Given the description of an element on the screen output the (x, y) to click on. 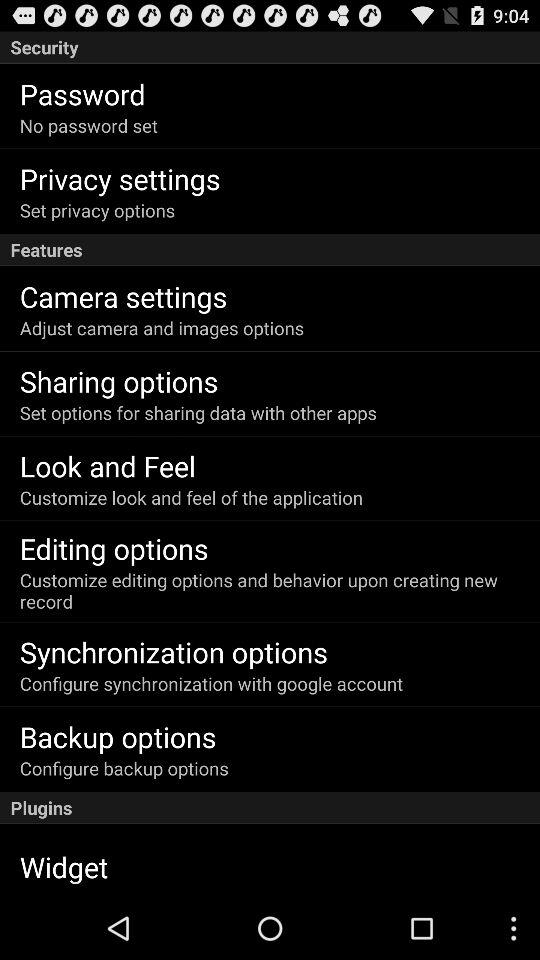
click synchronization options (173, 651)
